Given the description of an element on the screen output the (x, y) to click on. 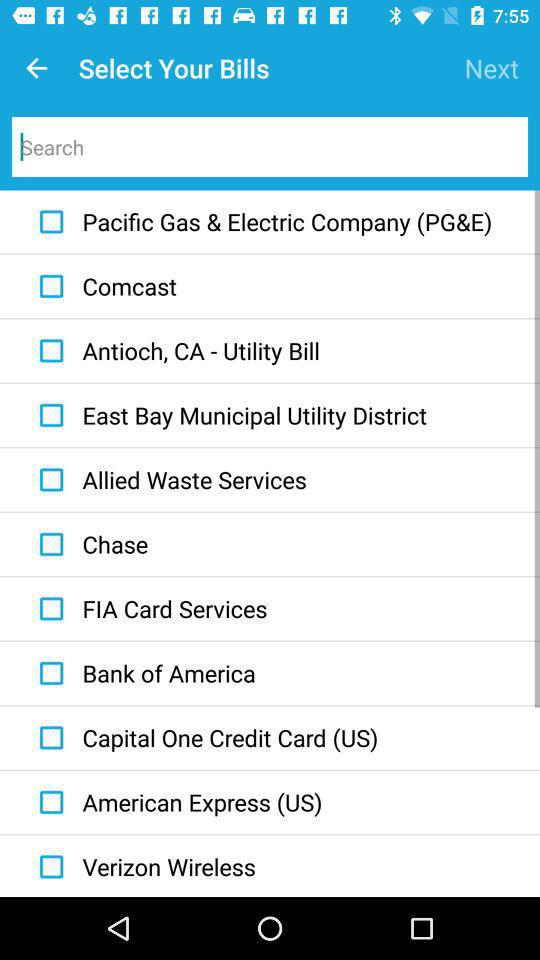
turn off the icon above comcast icon (261, 221)
